Given the description of an element on the screen output the (x, y) to click on. 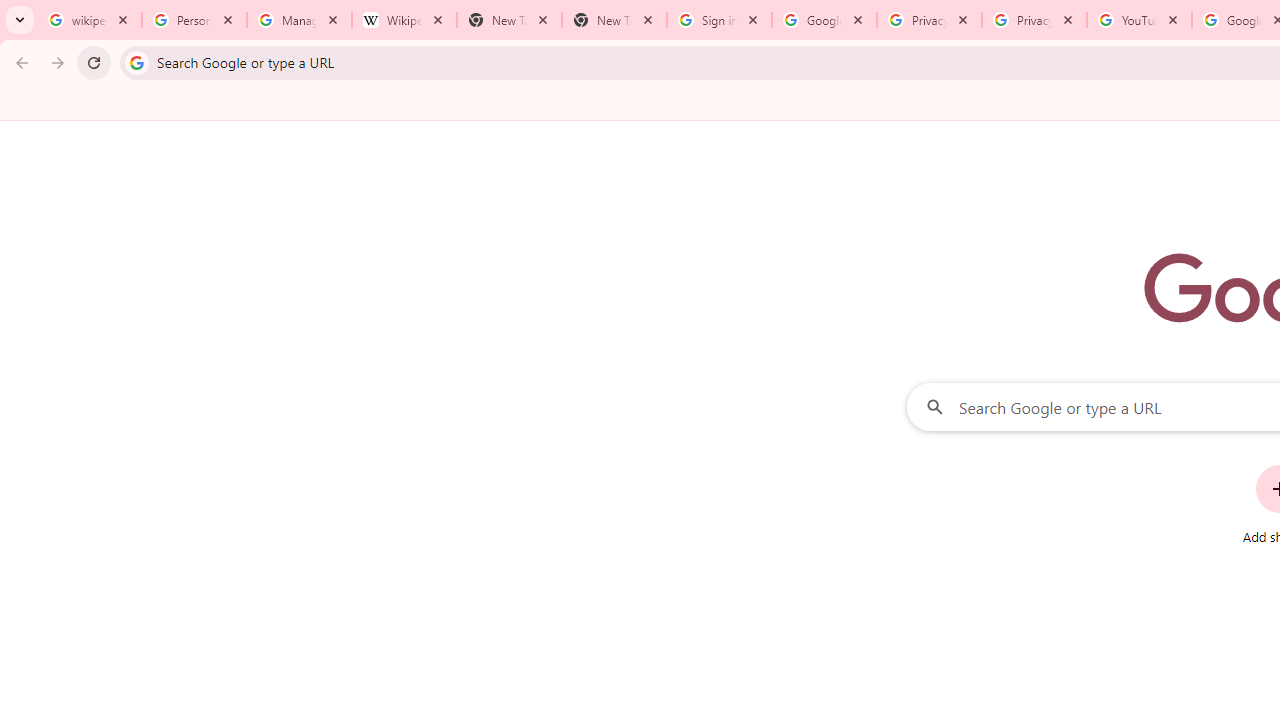
Search icon (136, 62)
